Given the description of an element on the screen output the (x, y) to click on. 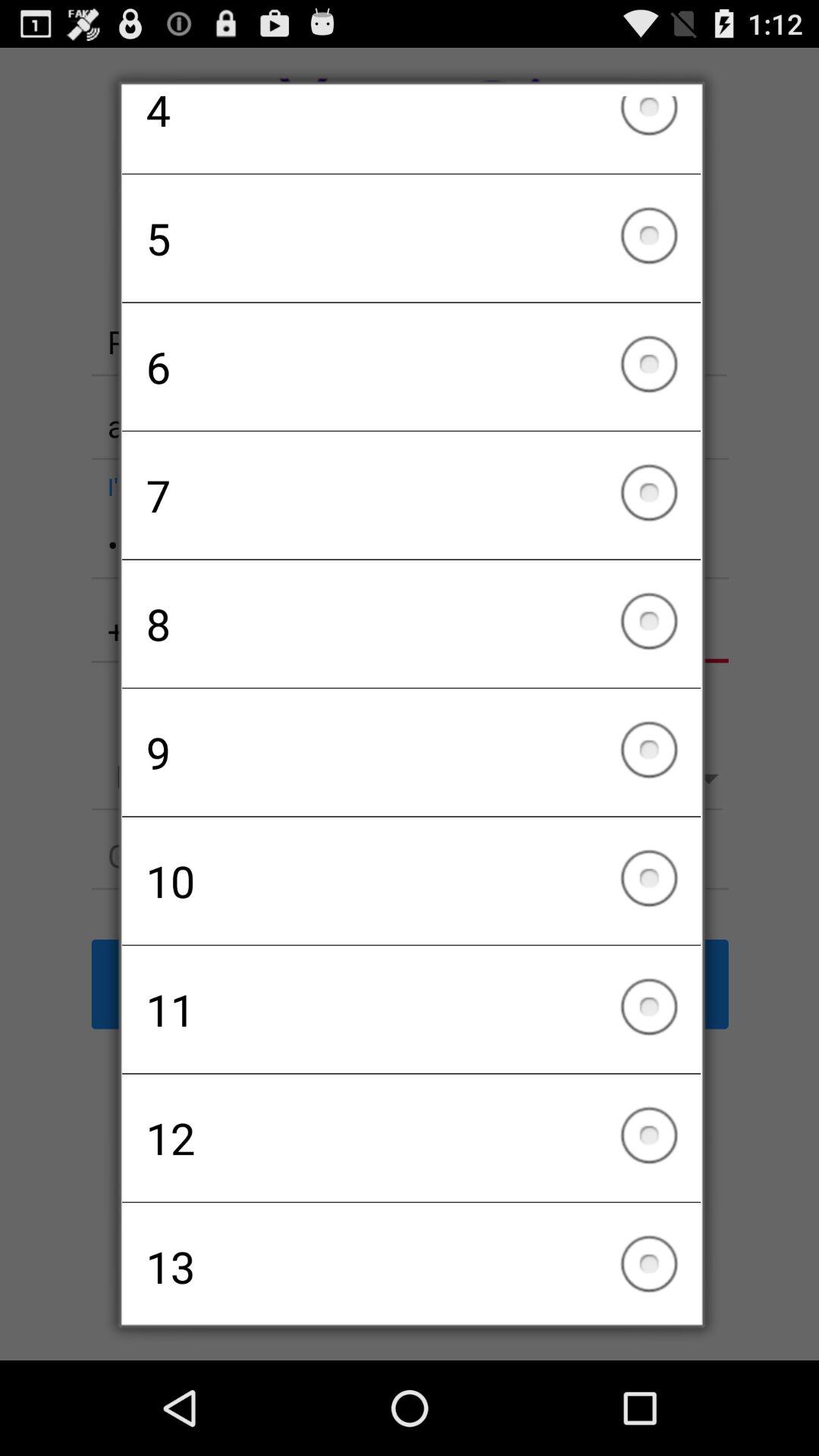
open the icon above the 11 item (411, 880)
